Given the description of an element on the screen output the (x, y) to click on. 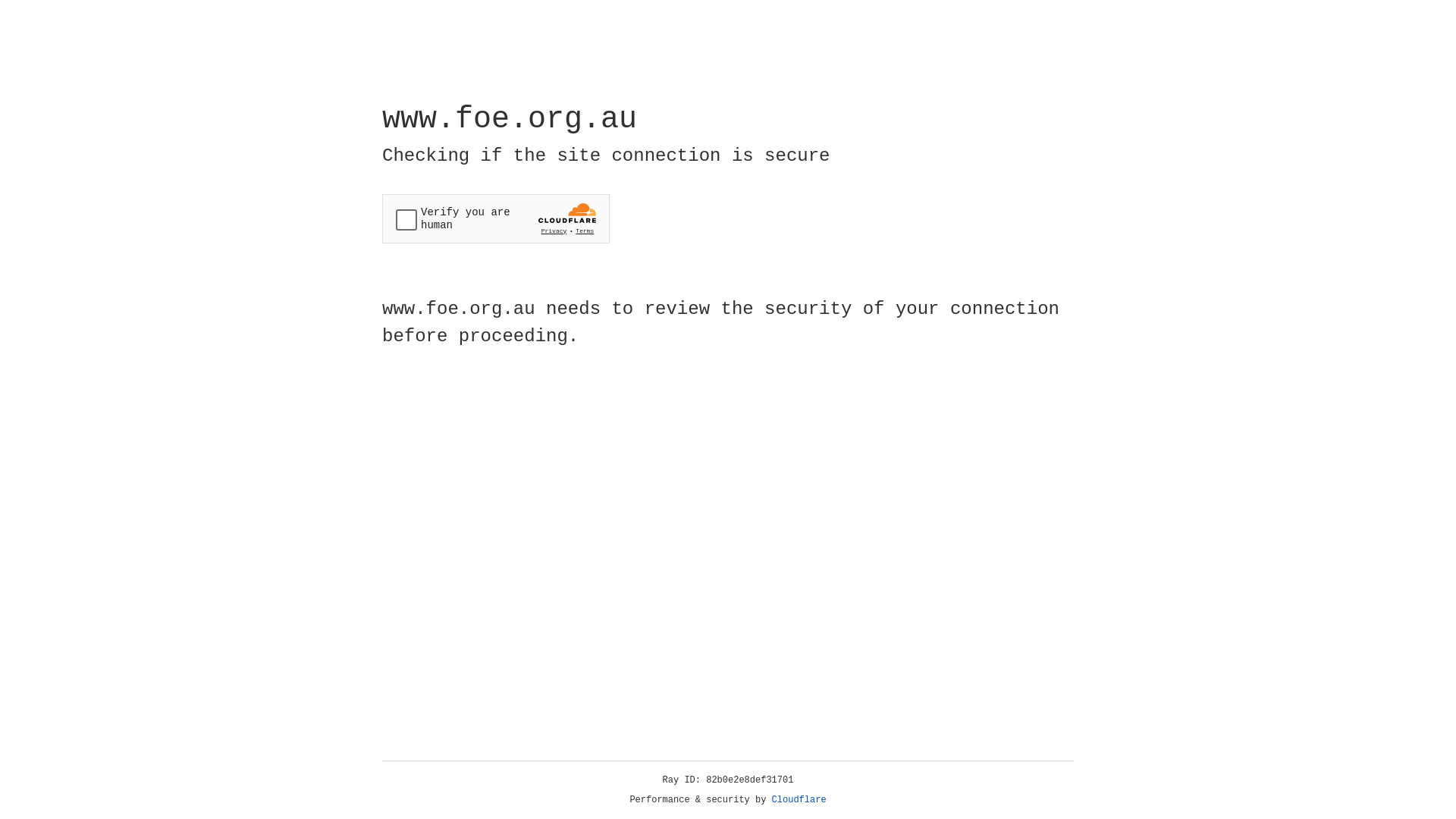
Cloudflare Element type: text (798, 799)
Widget containing a Cloudflare security challenge Element type: hover (495, 218)
